Given the description of an element on the screen output the (x, y) to click on. 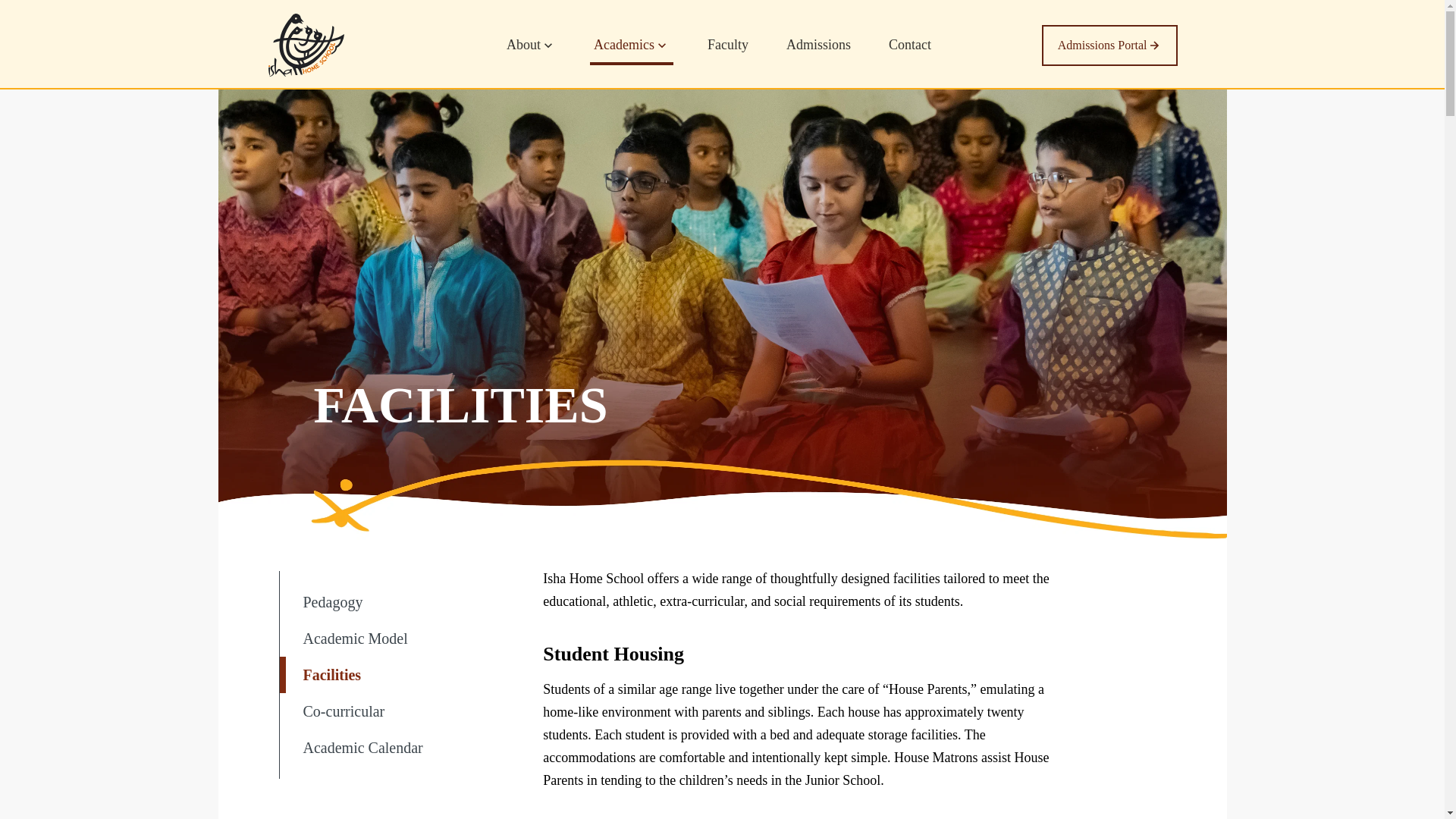
About (530, 51)
Co-curricular (382, 710)
Admissions Portal (1109, 45)
Pedagogy (382, 601)
Contact (909, 51)
Academic Calendar (382, 747)
Academic Model (382, 637)
Facilities (382, 674)
Admissions (818, 51)
Academics (630, 51)
Faculty (727, 51)
